Given the description of an element on the screen output the (x, y) to click on. 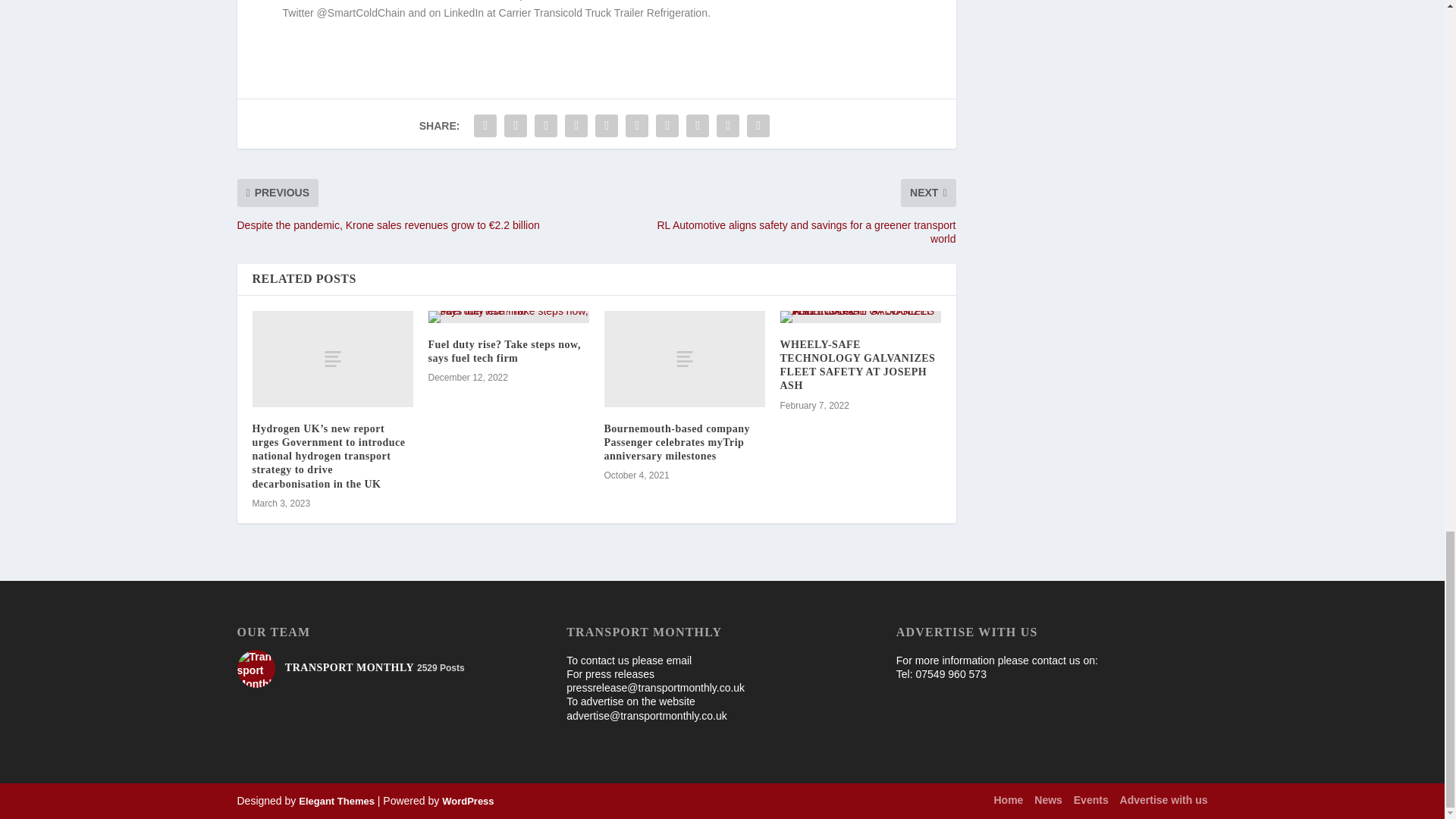
WHEELY-SAFE TECHNOLOGY GALVANIZES FLEET SAFETY AT JOSEPH ASH (859, 316)
Fuel duty rise? Take steps now, says fuel tech firm (508, 316)
Fuel duty rise? Take steps now, says fuel tech firm (503, 351)
WHEELY-SAFE TECHNOLOGY GALVANIZES FLEET SAFETY AT JOSEPH ASH (856, 365)
